Given the description of an element on the screen output the (x, y) to click on. 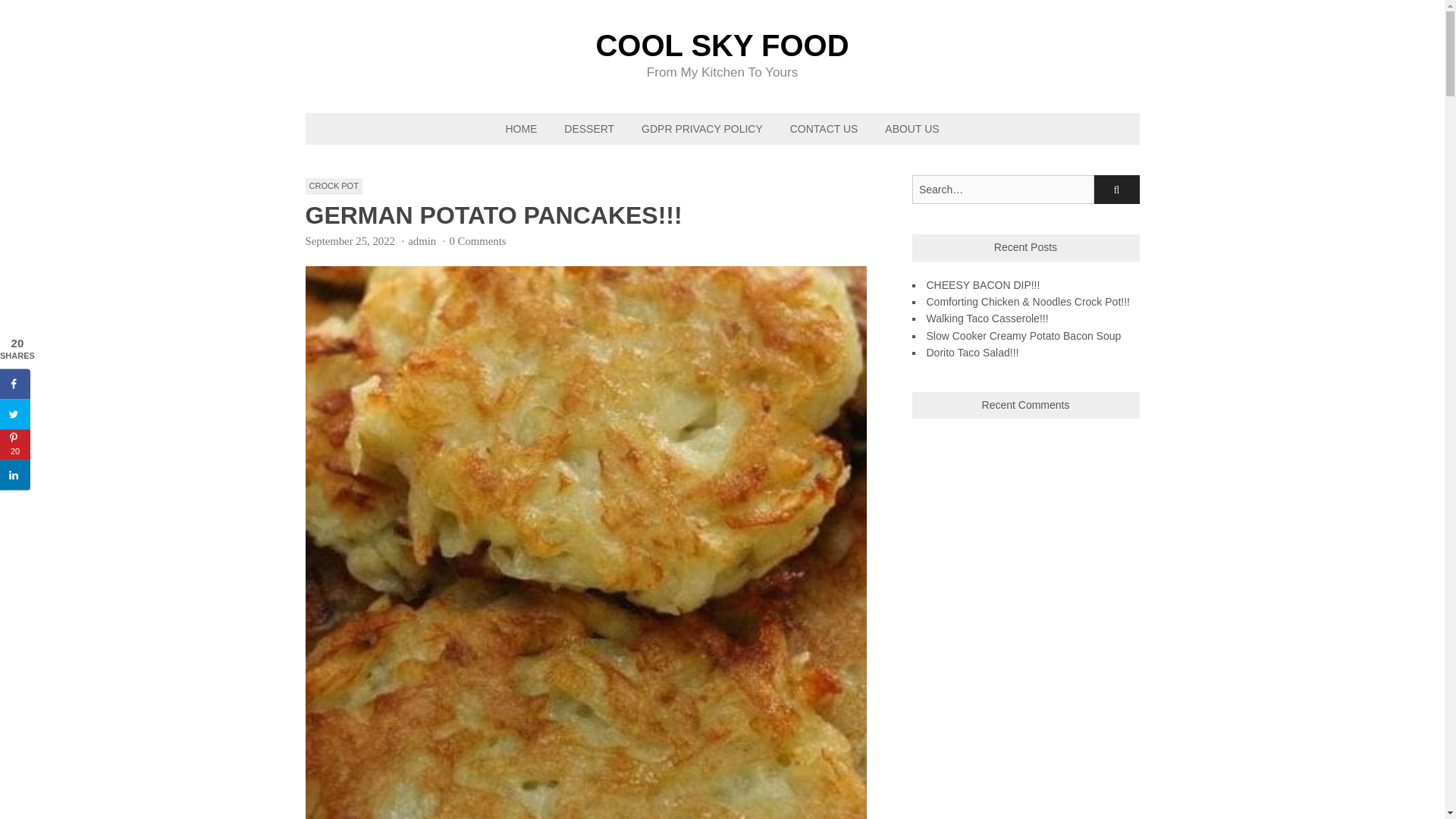
CONTACT US (823, 128)
COOL SKY FOOD (721, 45)
Crock Pot (332, 186)
cool sky food (721, 45)
DESSERT (588, 128)
0 Comments (477, 241)
admin (421, 241)
GDPR PRIVACY POLICY (701, 128)
HOME (520, 128)
ABOUT US (911, 128)
CROCK POT (332, 186)
Posts by admin (421, 241)
